Given the description of an element on the screen output the (x, y) to click on. 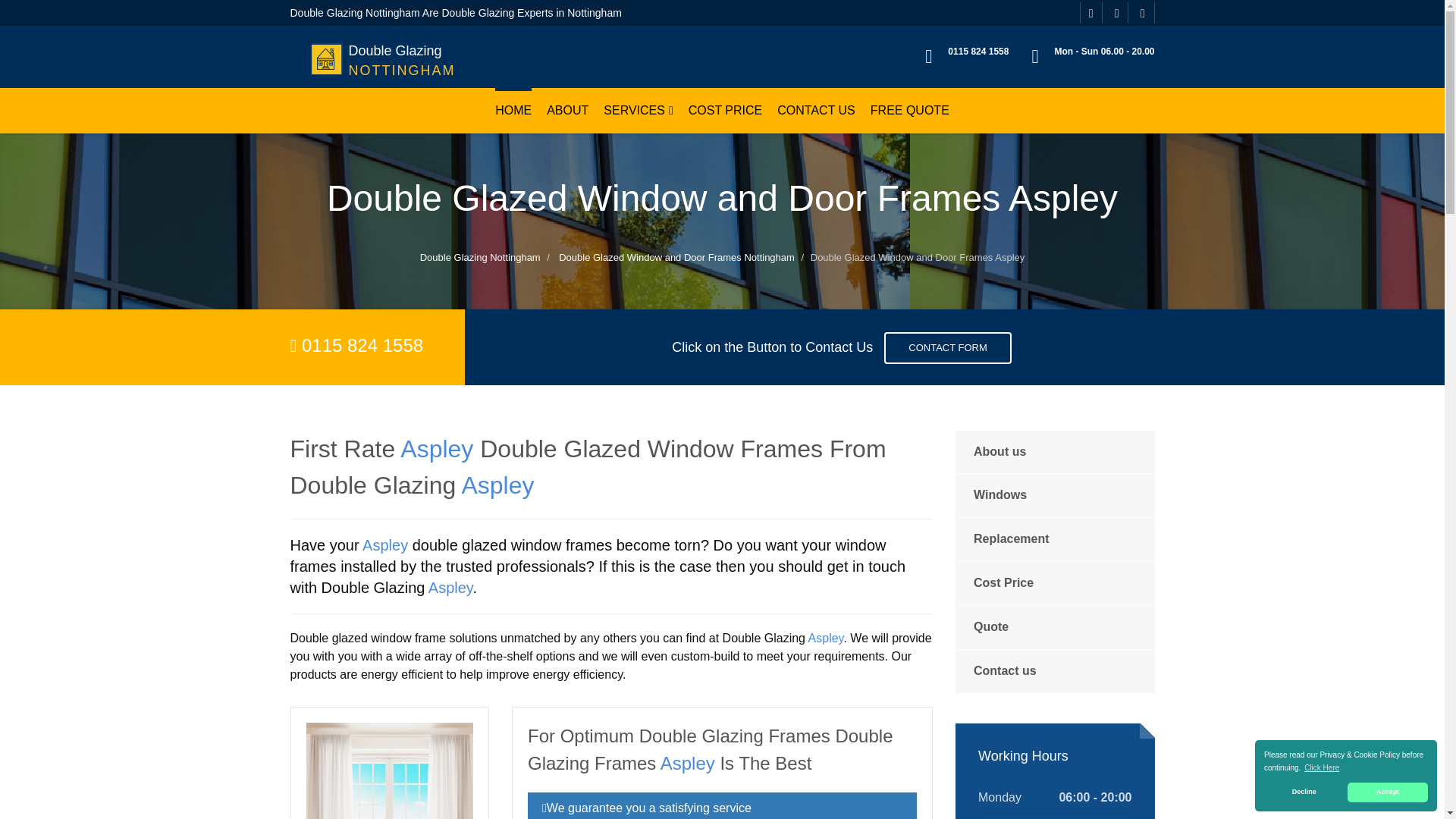
0115 824 1558 (377, 44)
Click Here (978, 50)
ABOUT (1321, 767)
Double Glazing Nottingham (567, 110)
COST PRICE (377, 44)
Accept (725, 110)
Decline (1388, 792)
SERVICES (1303, 792)
